Given the description of an element on the screen output the (x, y) to click on. 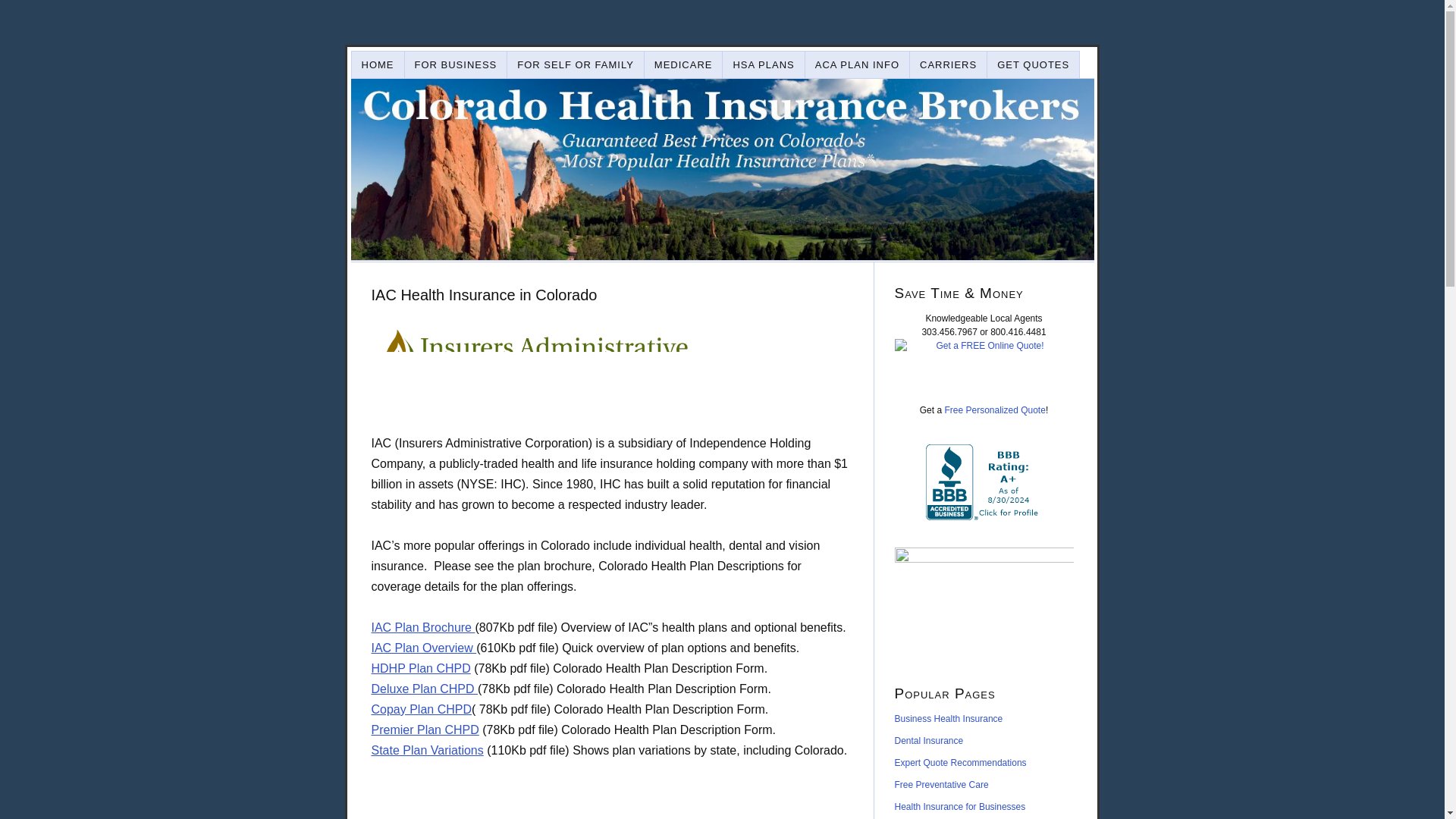
FOR SELF OR FAMILY (575, 64)
FOR BUSINESS (456, 64)
Free Personalized Health Insurance Quote Recommendations (960, 762)
HOME (378, 64)
IAC Health Insurance for Colorado (532, 369)
ACA PLAN INFO (857, 64)
MEDICARE (684, 64)
HSA PLANS (763, 64)
